Given the description of an element on the screen output the (x, y) to click on. 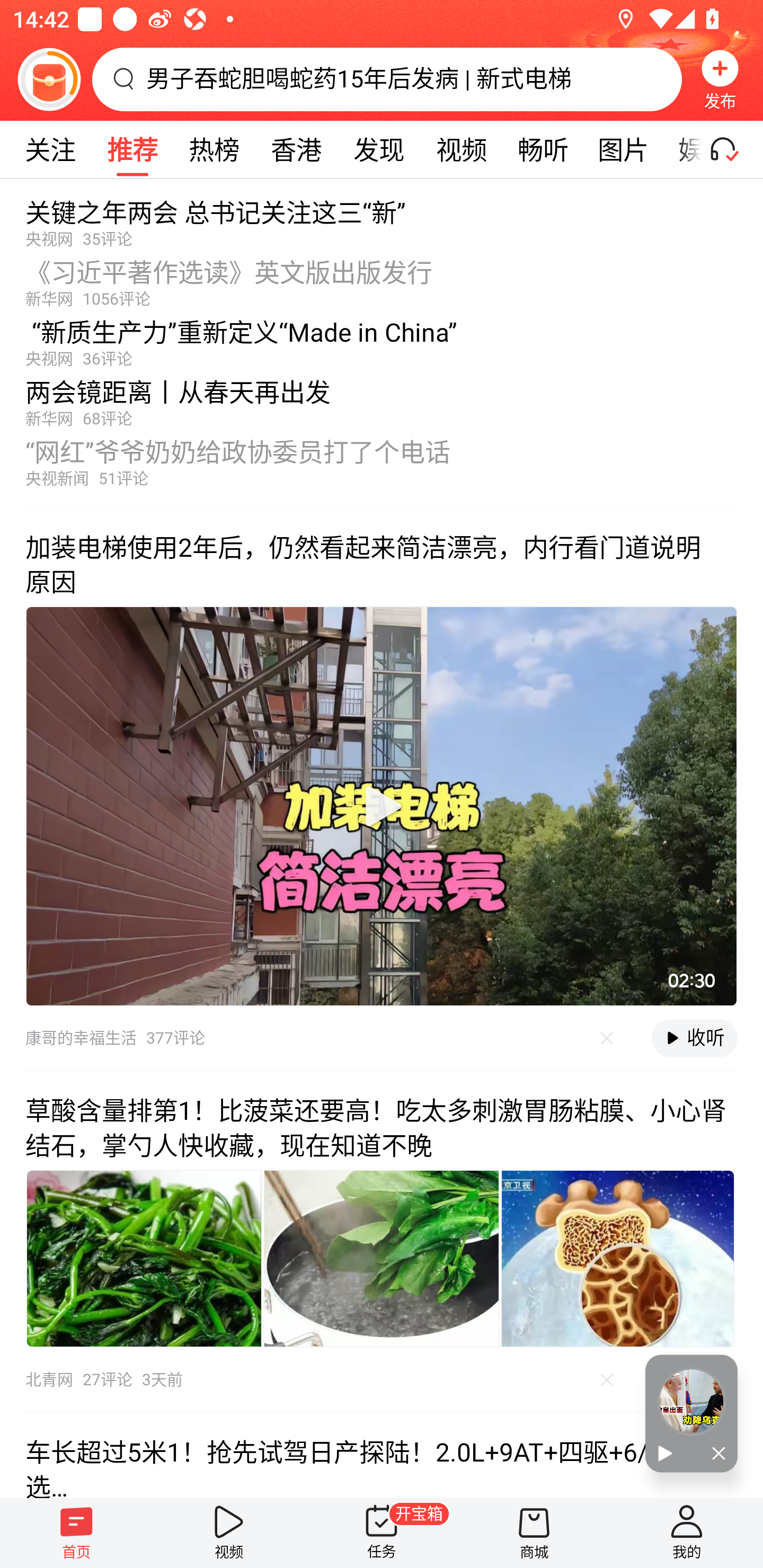
阅读赚金币 (48, 79)
男子吞蛇胆喝蛇药15年后发病 | 新式电梯 搜索框，男子吞蛇胆喝蛇药15年后发病 | 新式电梯 (387, 79)
发布 发布，按钮 (720, 78)
关注 (50, 149)
推荐 (132, 149)
热榜 (213, 149)
香港 (295, 149)
发现 (378, 149)
视频 (461, 149)
畅听 (542, 149)
图片 (623, 149)
听一听开关 (732, 149)
两会镜距离丨从春天再出发新华网68评论 文章 两会镜距离丨从春天再出发 新华网68评论 (381, 398)
播放视频 视频播放器，双击屏幕打开播放控制 (381, 805)
播放视频 (381, 806)
收听 (694, 1037)
不感兴趣 (607, 1037)
三张内容图片 内容图片 内容图片 内容图片 (381, 1258)
内容图片 (381, 1258)
内容图片 (617, 1258)
当前进度 0% 播放 关闭 (691, 1413)
不感兴趣 (607, 1379)
车长超过5米1！抢先试驾日产探陆！2.0L+9AT+四驱+6/7座可选… (381, 1454)
播放 (668, 1454)
关闭 (714, 1454)
首页 (76, 1532)
视频 (228, 1532)
任务 开宝箱 (381, 1532)
商城 (533, 1532)
我的 (686, 1532)
